Given the description of an element on the screen output the (x, y) to click on. 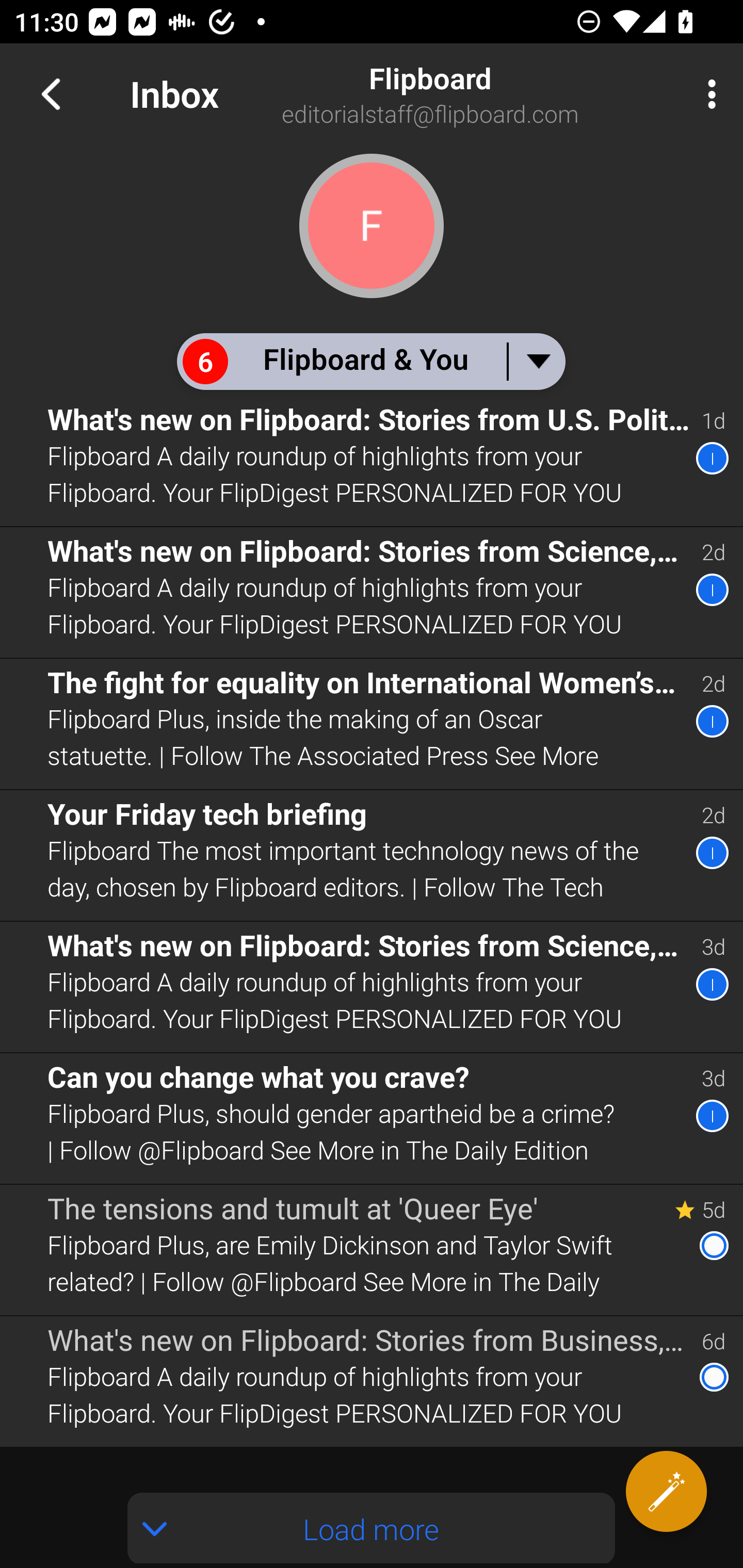
Navigate up (50, 93)
Flipboard editorialstaff@flipboard.com (481, 93)
More Options (706, 93)
6 Flipboard & You (370, 361)
Load more (371, 1527)
